Given the description of an element on the screen output the (x, y) to click on. 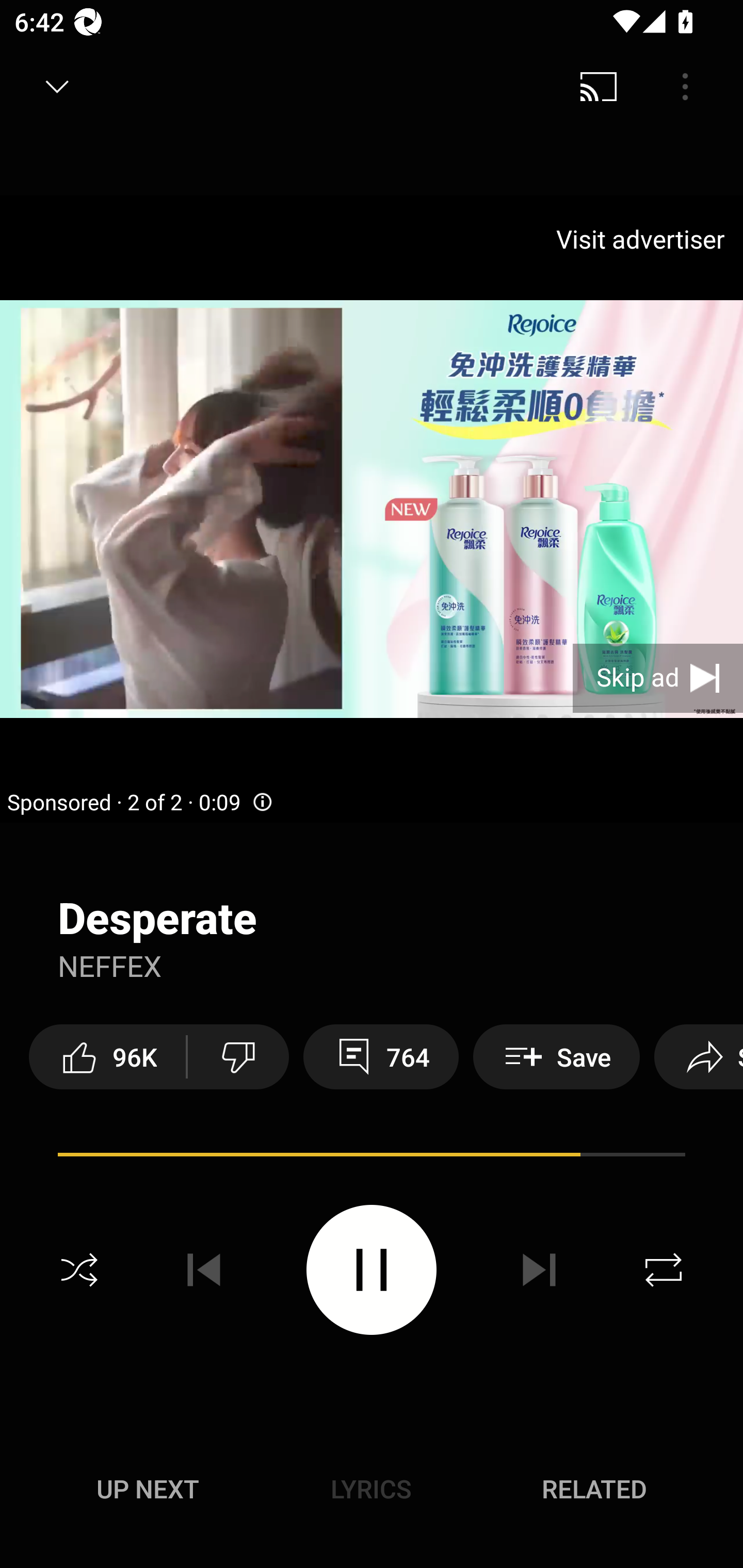
Minimize (57, 86)
Cast. Disconnected (598, 86)
Menu (684, 86)
Visit advertiser (644, 239)
Skip ad (657, 678)
Sponsored · 2 of 2 · 0:09 (140, 802)
96K like this video along with 96,234 other people (106, 1056)
Dislike (238, 1056)
764 View 764 comments (380, 1056)
Save Save to playlist (556, 1056)
Share (698, 1056)
Pause video (371, 1269)
Shuffle off (79, 1269)
Previous track disabled (203, 1269)
Next track disabled (538, 1269)
Repeat off (663, 1269)
Up next UP NEXT Lyrics LYRICS Related RELATED (371, 1491)
Lyrics LYRICS (370, 1488)
Related RELATED (594, 1488)
